Given the description of an element on the screen output the (x, y) to click on. 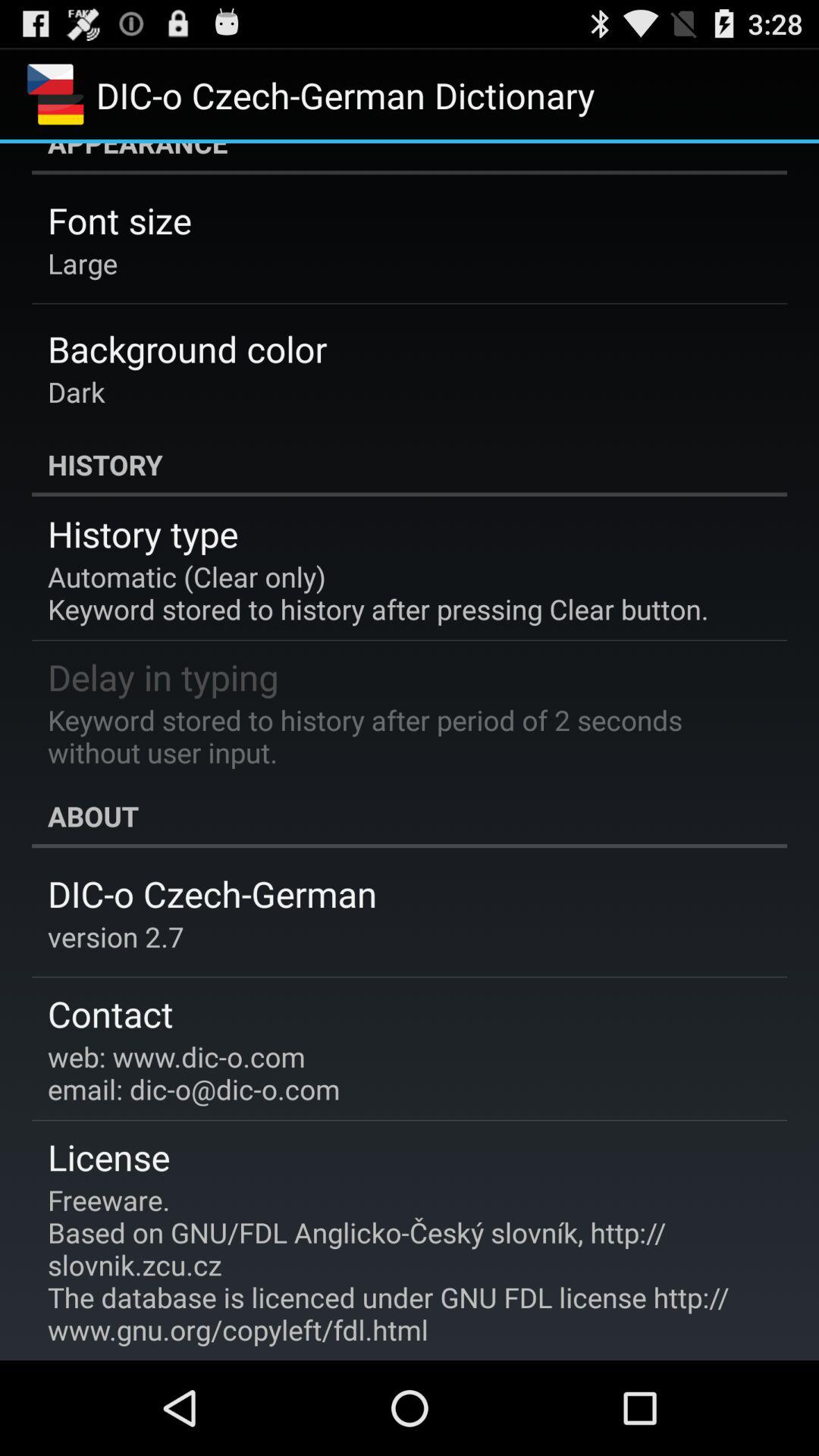
turn off the appearance app (409, 158)
